Given the description of an element on the screen output the (x, y) to click on. 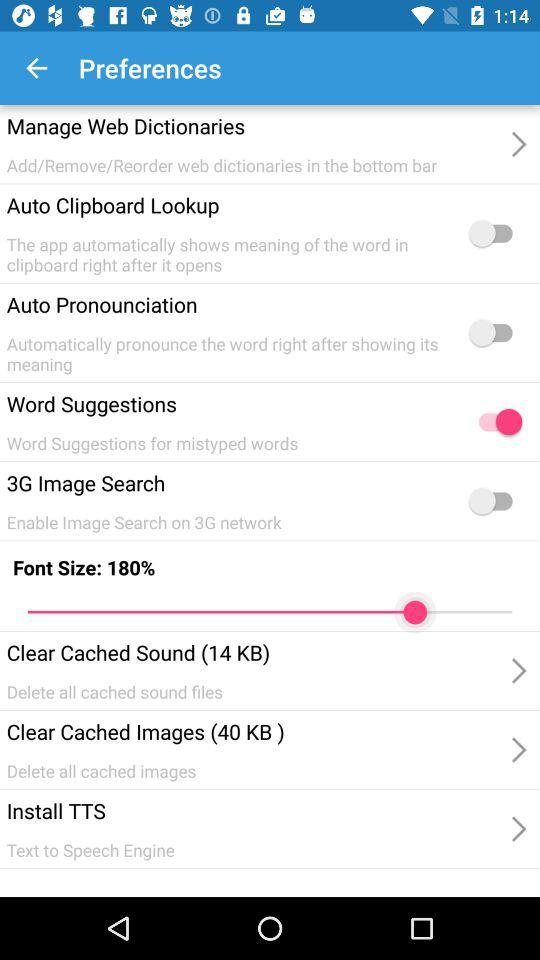
toggle auto pronoucnciation (495, 332)
